Given the description of an element on the screen output the (x, y) to click on. 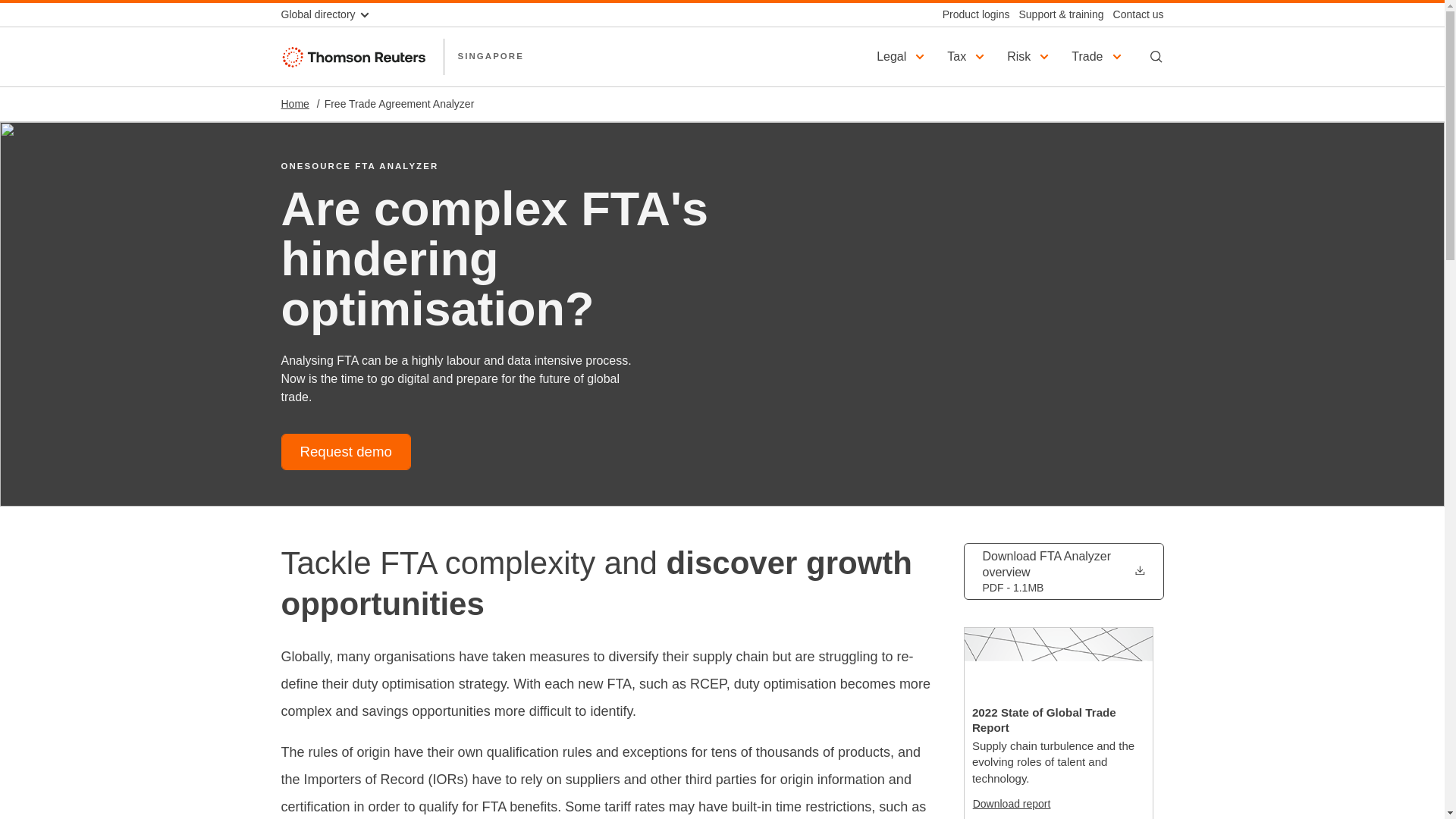
Global directory (331, 14)
Contact us (1133, 14)
SINGAPORE (489, 56)
Thomson Reuters (355, 56)
Product logins (971, 14)
Legal (902, 56)
Tax (967, 56)
